Given the description of an element on the screen output the (x, y) to click on. 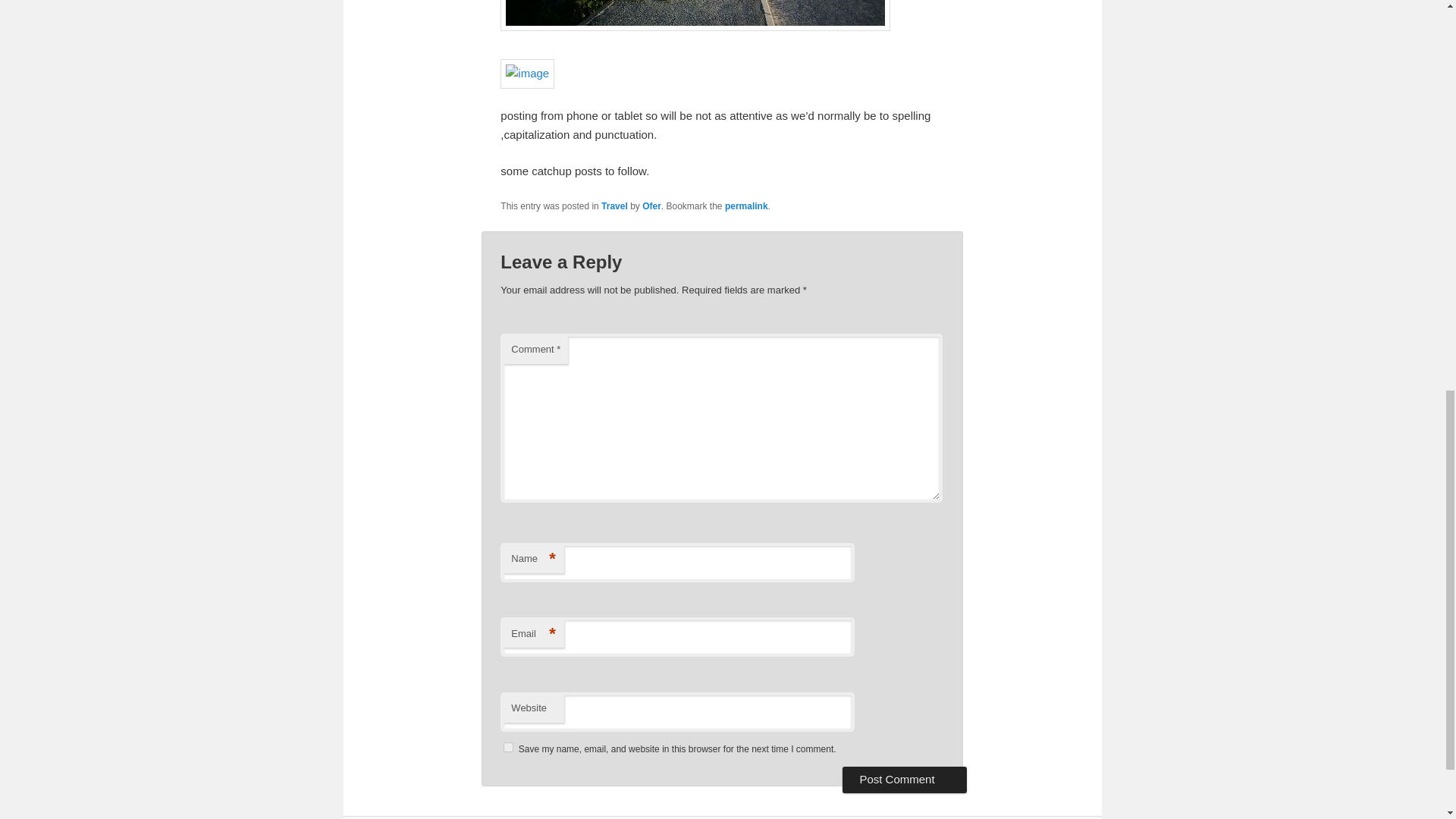
Permalink to Tip of africa (746, 205)
Ofer (651, 205)
Post Comment (904, 779)
Travel (614, 205)
Post Comment (904, 779)
yes (508, 747)
2013-01-12 19.08.01.jpg (694, 15)
2013-01-12 19.05.08.jpg (527, 72)
permalink (746, 205)
